Given the description of an element on the screen output the (x, y) to click on. 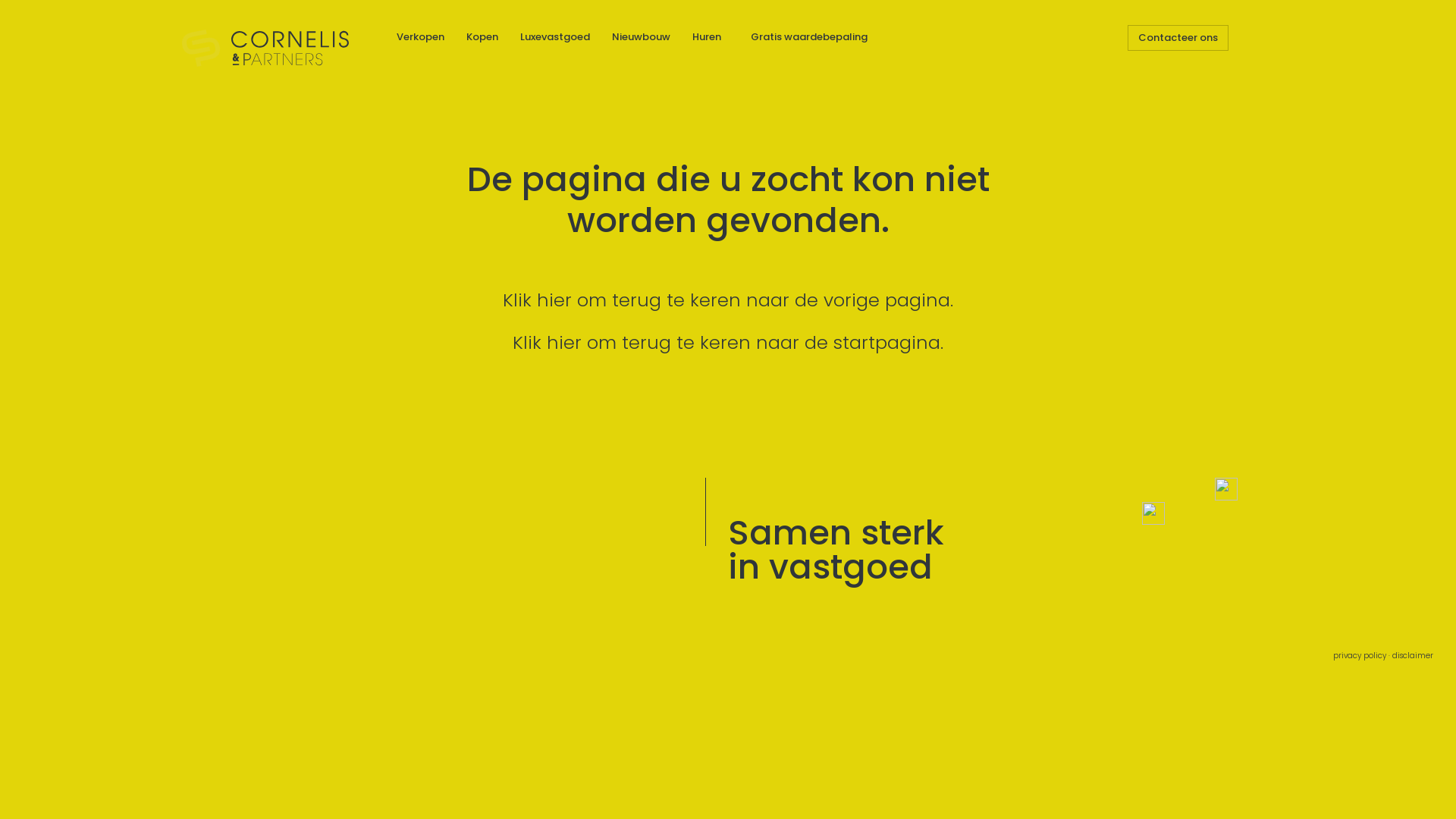
Huren Element type: text (706, 36)
Verkopen Element type: text (420, 36)
Kopen Element type: text (482, 36)
disclaimer Element type: text (1412, 655)
Gratis waardebepaling Element type: text (808, 36)
Nieuwbouw Element type: text (641, 36)
Luxevastgoed Element type: text (554, 36)
Klik hier om terug te keren naar de vorige pagina. Element type: text (727, 299)
privacy policy Element type: text (1359, 655)
Klik hier om terug te keren naar de startpagina. Element type: text (727, 342)
Contacteer ons Element type: text (1177, 37)
